Given the description of an element on the screen output the (x, y) to click on. 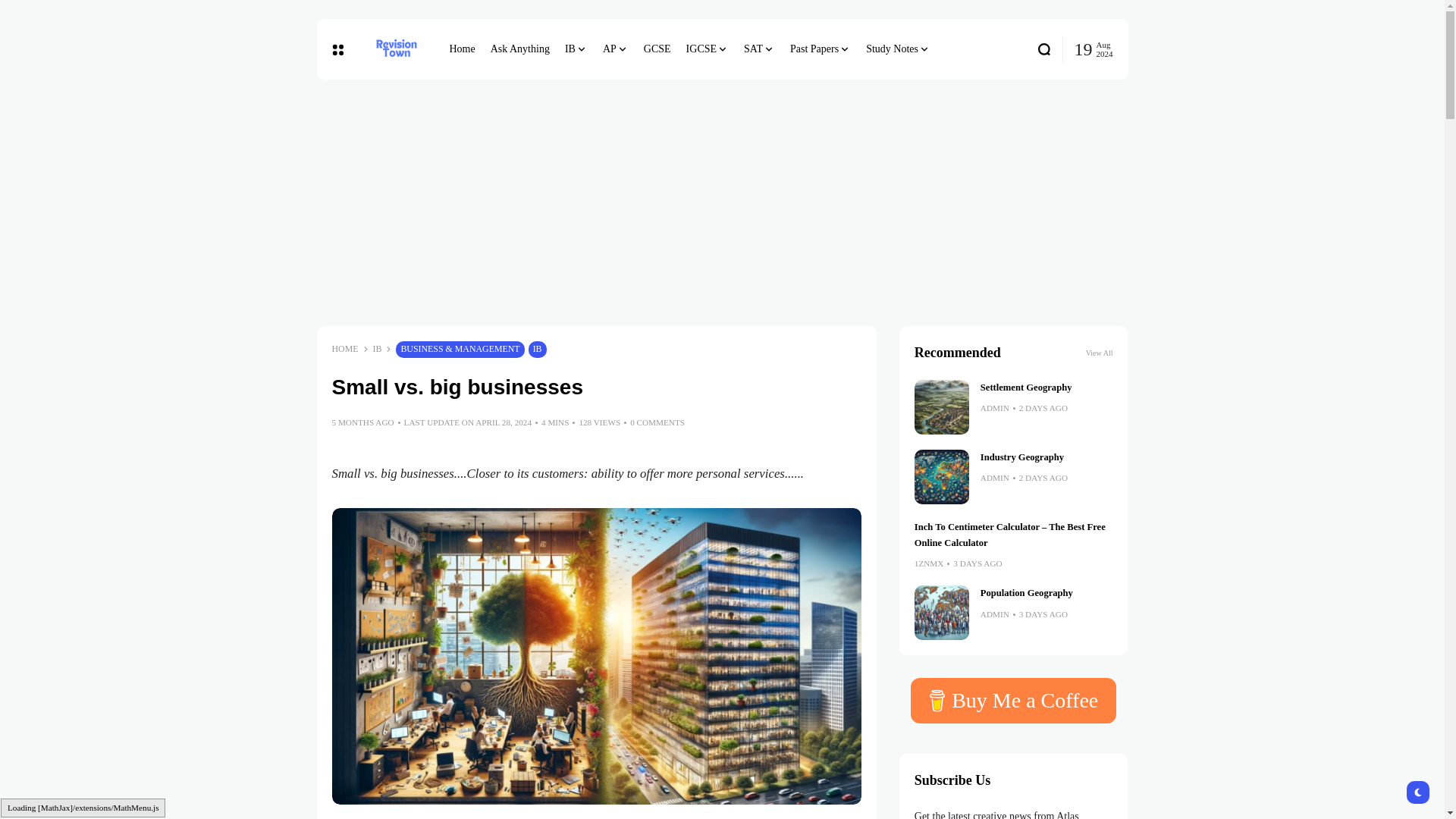
RivisionTown (395, 49)
Ask Anything (520, 48)
